Given the description of an element on the screen output the (x, y) to click on. 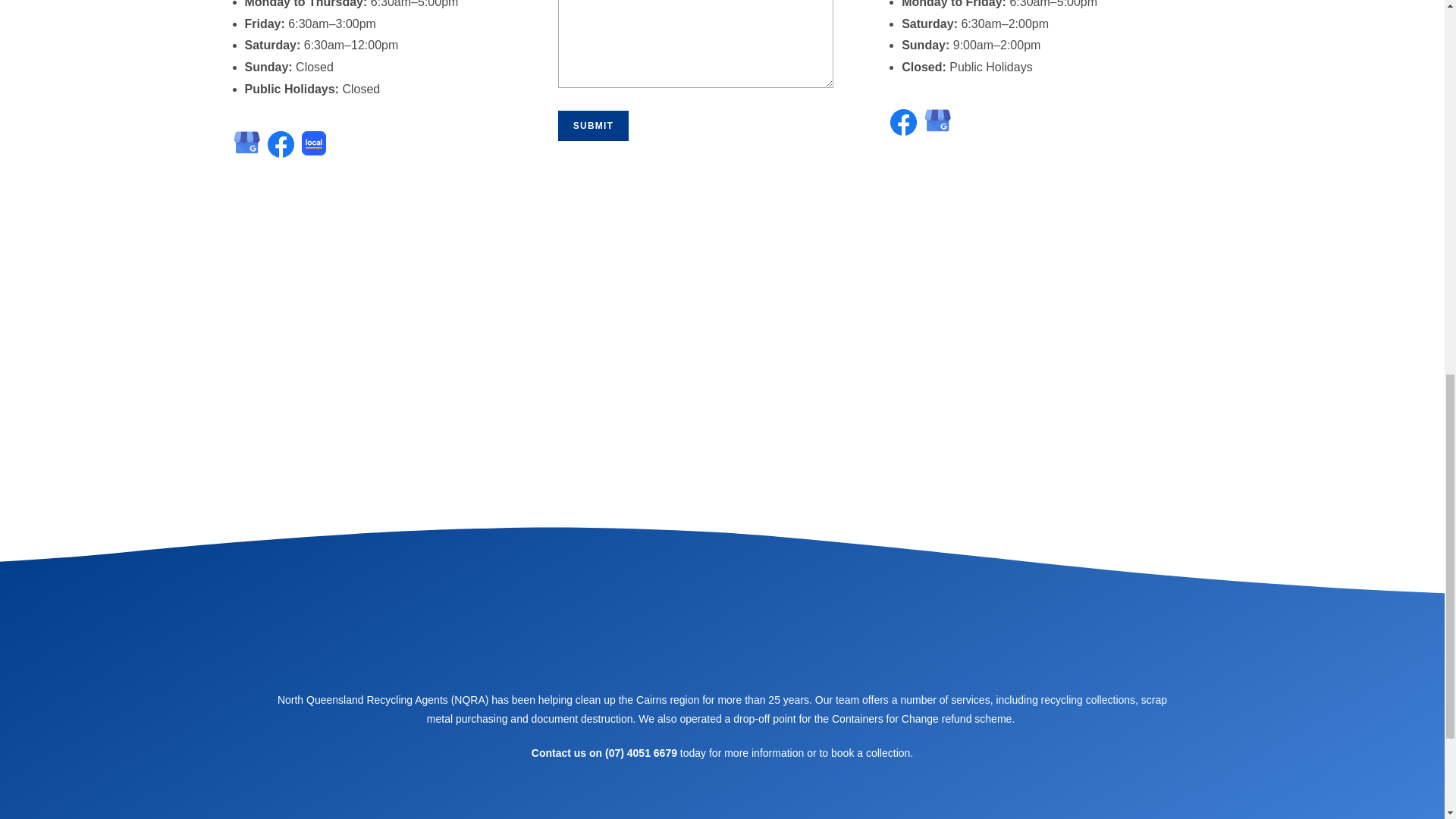
www.localsearch.com.au (733, 807)
nqra-logo-white-new (721, 637)
SUBMIT (592, 125)
SUBMIT (592, 125)
facebook (706, 807)
